Given the description of an element on the screen output the (x, y) to click on. 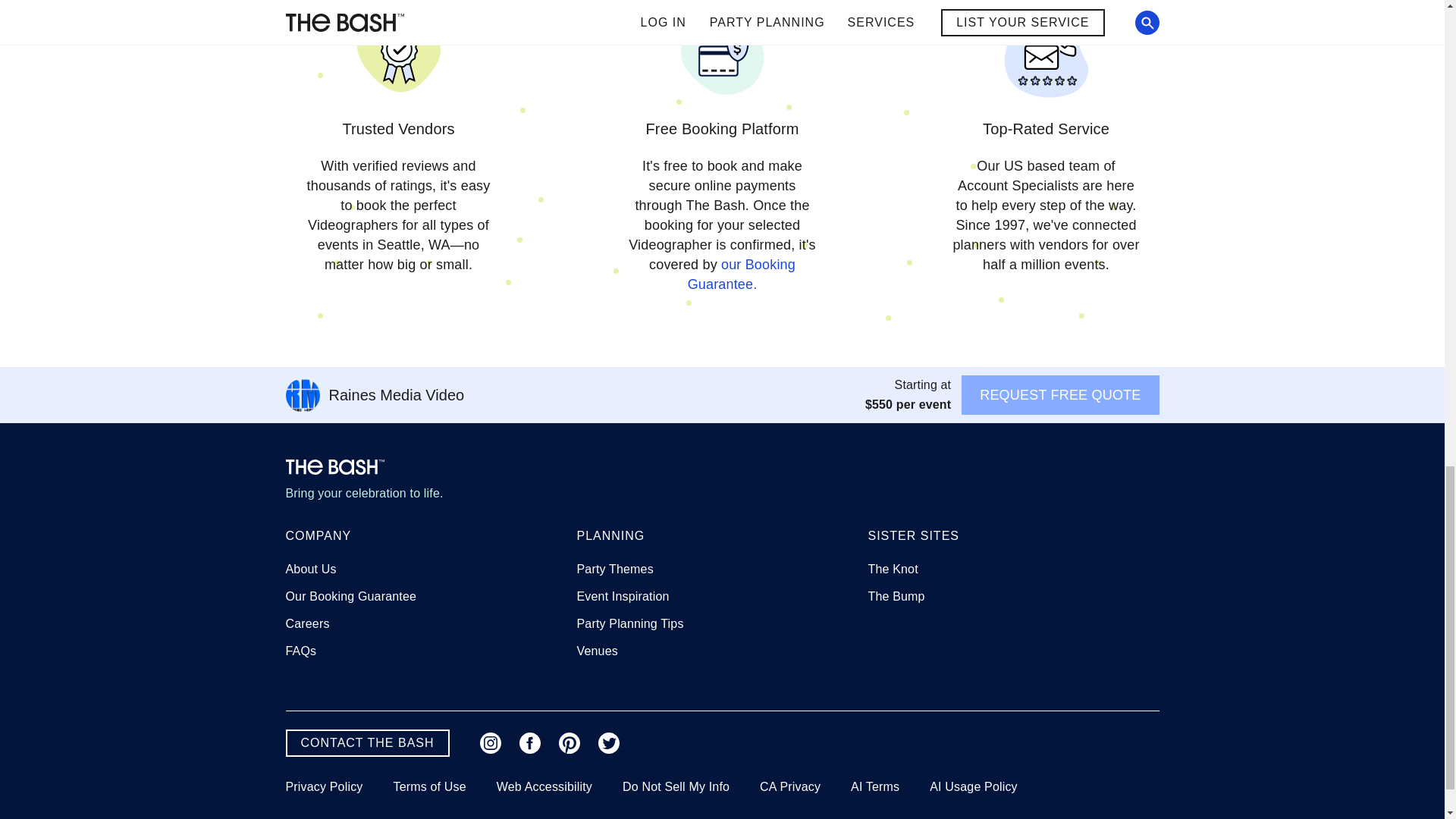
Frequently Asked Questions (300, 650)
The Bash Logo (334, 467)
